Given the description of an element on the screen output the (x, y) to click on. 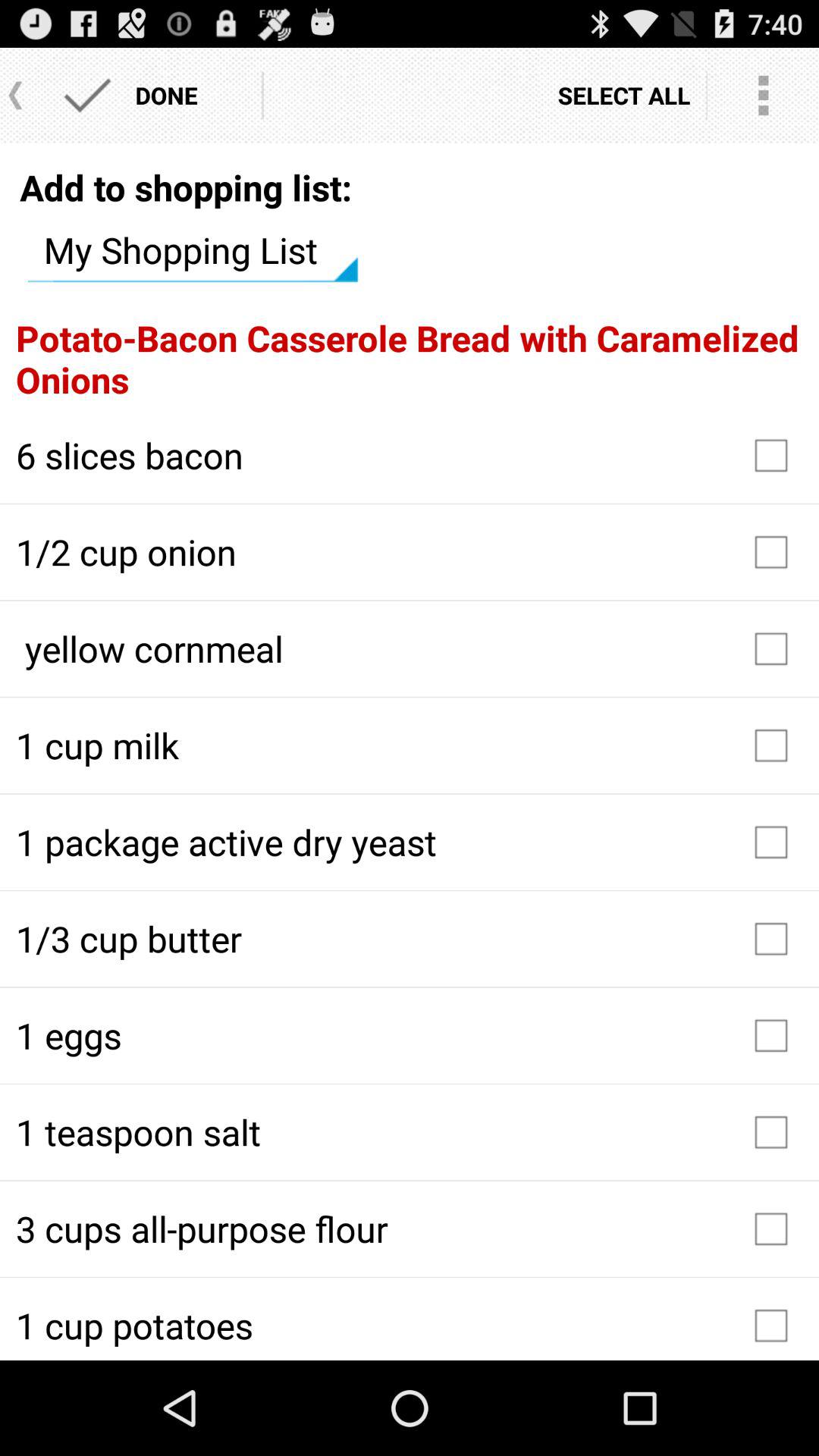
press the item above my shopping list item (185, 187)
